Given the description of an element on the screen output the (x, y) to click on. 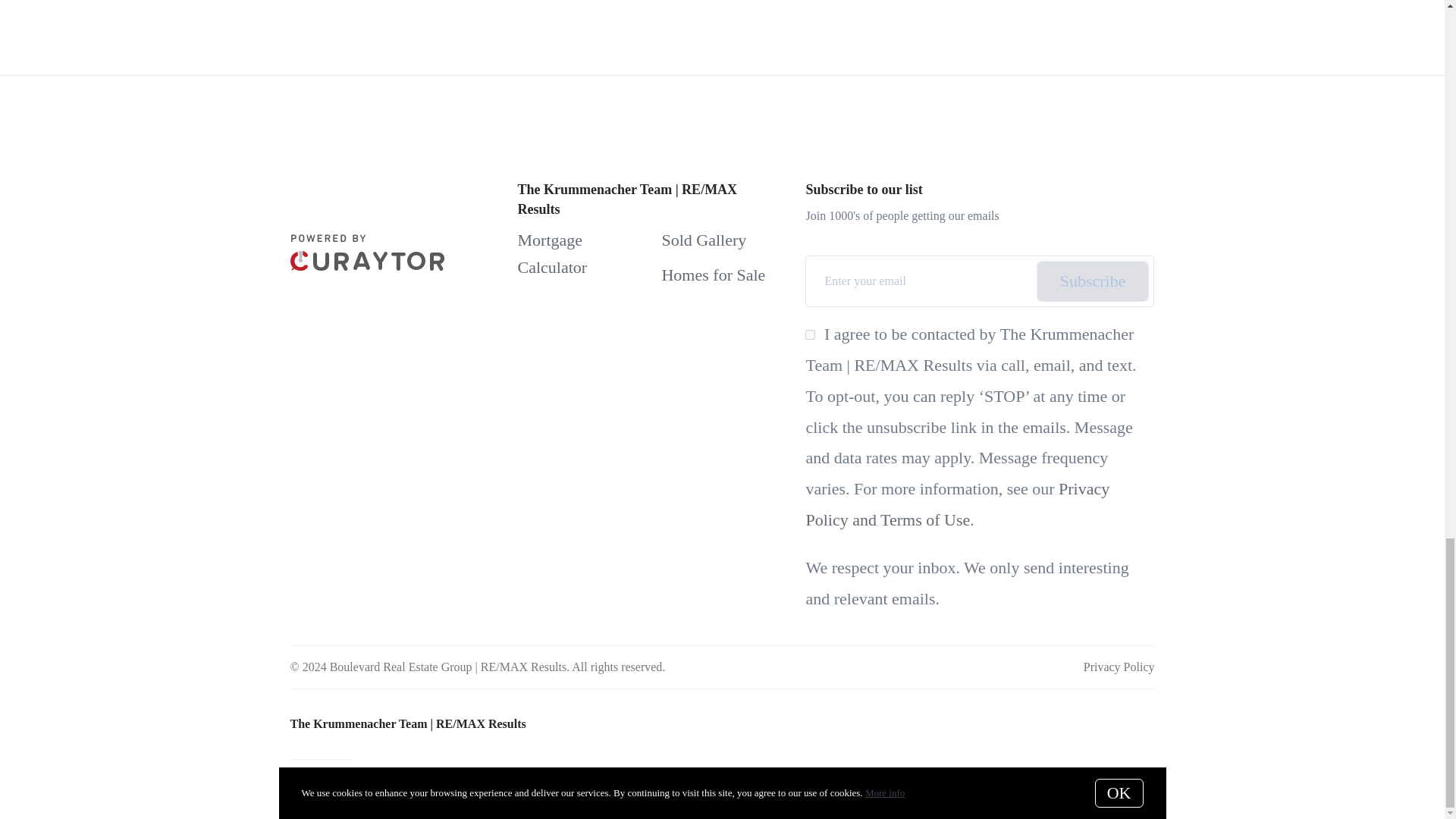
on (810, 334)
curaytor-horizontal (366, 252)
